Given the description of an element on the screen output the (x, y) to click on. 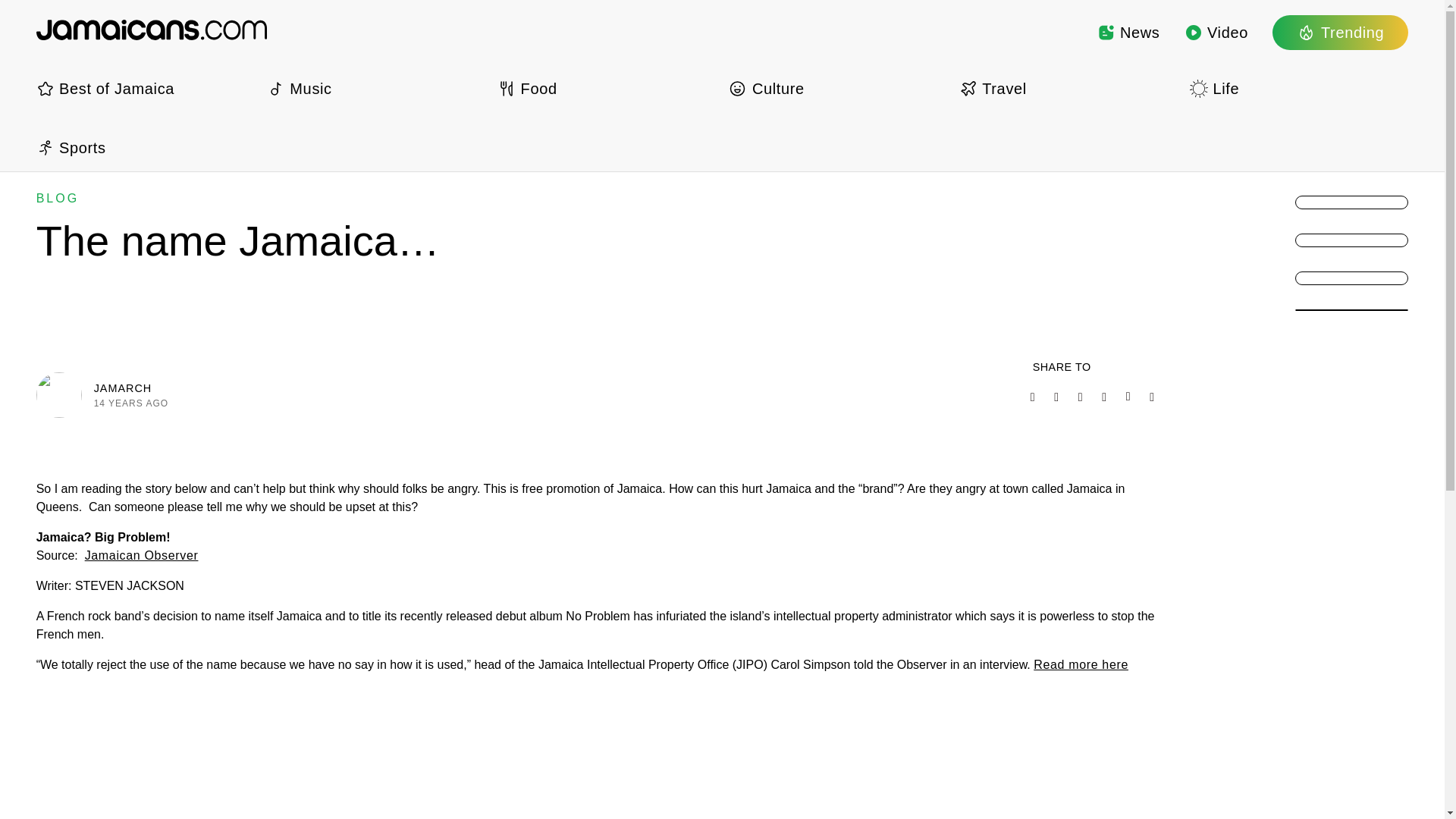
Video (1216, 32)
Travel (1068, 88)
Food (606, 88)
Sports (145, 147)
Read more here (1080, 664)
Music (375, 88)
News (1128, 32)
BLOG (57, 197)
Best of Jamaica (145, 88)
Life (1298, 88)
